Given the description of an element on the screen output the (x, y) to click on. 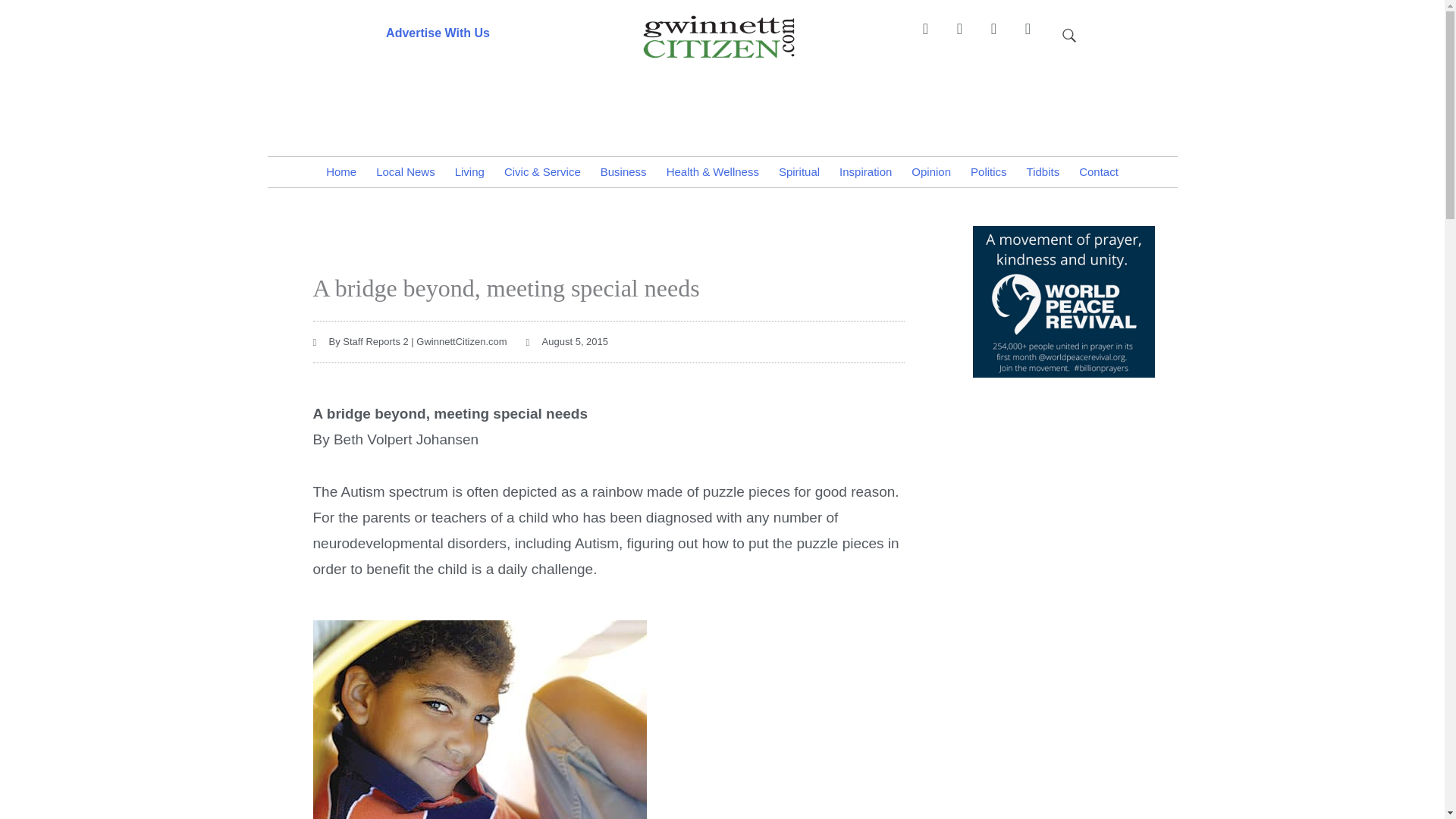
Living (470, 172)
Inspiration (865, 172)
Opinion (930, 172)
Spiritual (798, 172)
Local News (405, 172)
Youtube (1034, 36)
Advertise With Us (437, 32)
Business (623, 172)
Politics (988, 172)
Facebook (932, 36)
Pinterest (966, 36)
Tidbits (1043, 172)
Home (340, 172)
Twitter (1000, 36)
